Given the description of an element on the screen output the (x, y) to click on. 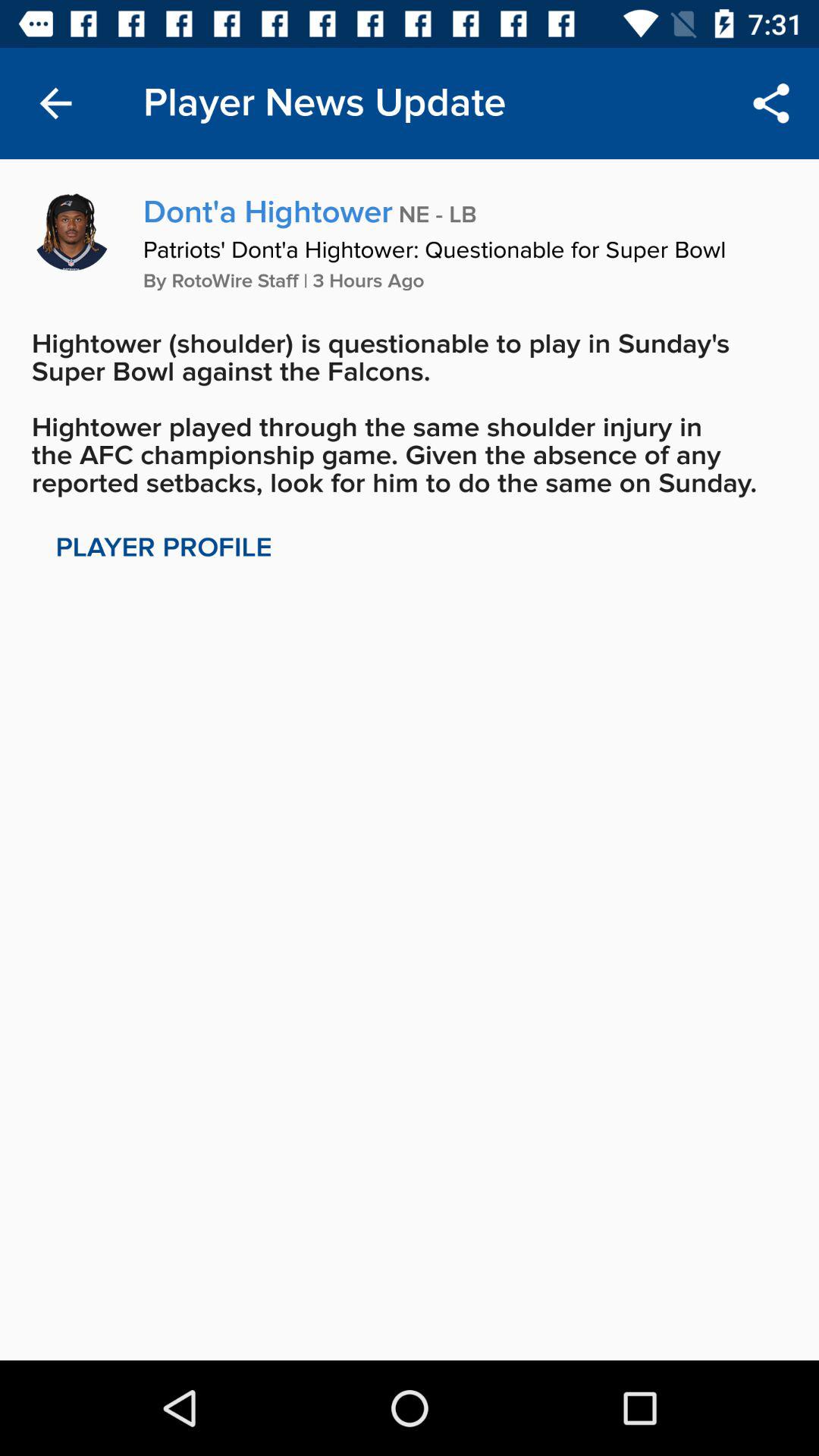
launch the player profile on the left (163, 547)
